Given the description of an element on the screen output the (x, y) to click on. 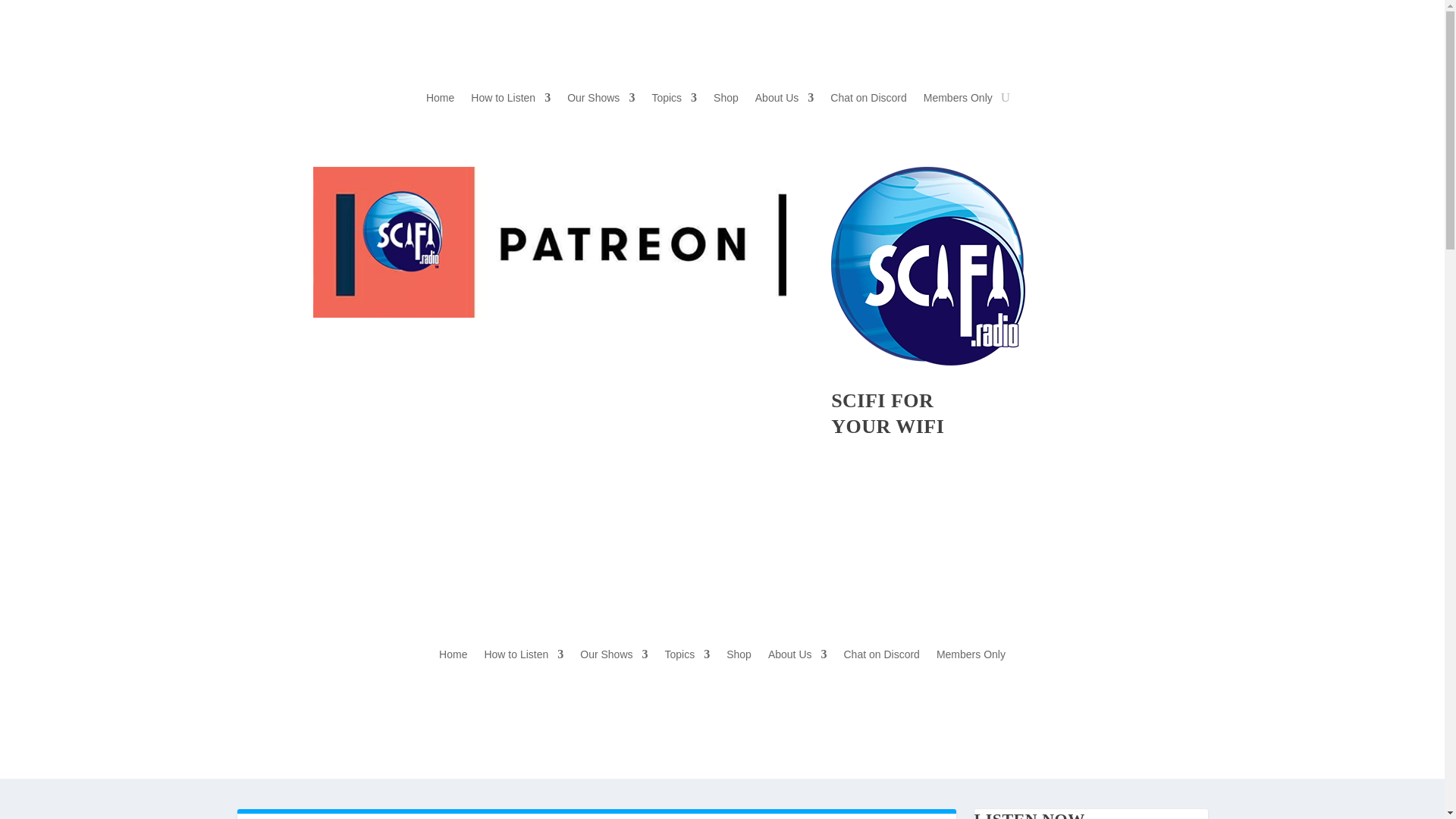
SCIFIRADIO patreon2 AVIF (549, 242)
Follow on Instagram (457, 352)
Our Shows (600, 100)
Home (440, 100)
scifiradio-256-AVIF (928, 266)
Topics (673, 100)
Follow on Pinterest (491, 352)
Follow on Patreon (324, 352)
Follow on Youtube (390, 352)
Follow on Facebook (357, 352)
